Given the description of an element on the screen output the (x, y) to click on. 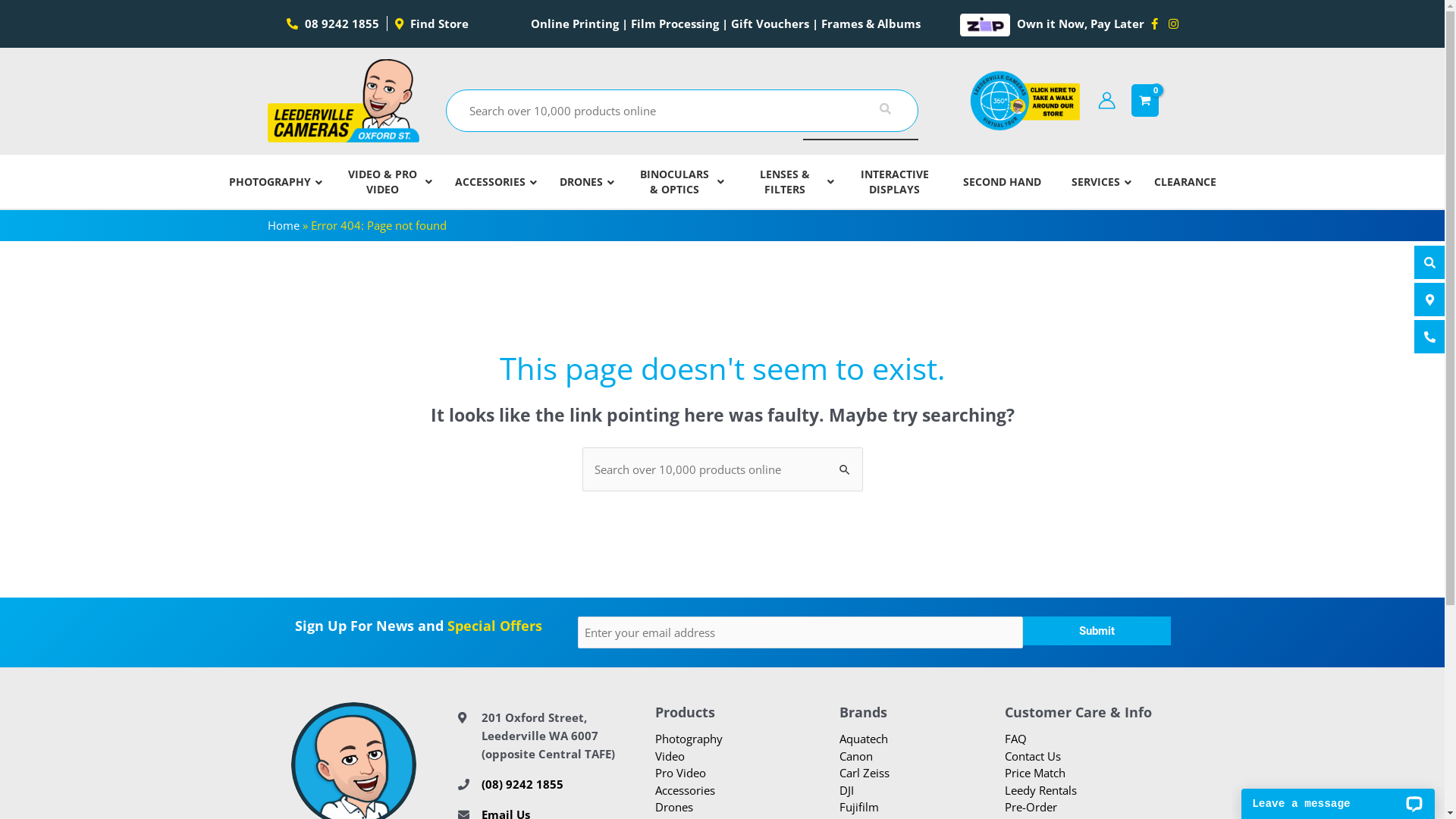
Photography Element type: text (688, 738)
FAQ Element type: text (1015, 738)
LENSES & FILTERS Element type: text (785, 181)
Video Element type: text (669, 755)
VIDEO & PRO VIDEO Element type: text (384, 181)
ACCESSORIES Element type: text (491, 181)
Pre-Order Element type: text (1030, 806)
Pro Video Element type: text (680, 772)
08 9242 1855 Element type: text (336, 23)
CLEARANCE Element type: text (1185, 181)
Find Store Element type: text (430, 23)
SERVICES Element type: text (1096, 181)
Price Match Element type: text (1034, 772)
PHOTOGRAPHY Element type: text (271, 181)
Carl Zeiss Element type: text (863, 772)
Contact Us Element type: text (1032, 755)
Online Printing Element type: text (574, 23)
Frames & Albums Element type: text (869, 23)
Home Element type: text (282, 224)
Leedy Rentals Element type: text (1040, 789)
Gift Vouchers Element type: text (770, 23)
Submit Element type: text (1096, 630)
BINOCULARS & OPTICS Element type: text (676, 181)
Aquatech Element type: text (862, 738)
DRONES Element type: text (582, 181)
Search Element type: text (845, 462)
Film Processing Element type: text (674, 23)
SECOND HAND Element type: text (1001, 181)
INTERACTIVE DISPLAYS Element type: text (894, 181)
(08) 9242 1855 Element type: text (521, 783)
Drones Element type: text (674, 806)
Accessories Element type: text (685, 789)
Fujifilm Element type: text (858, 806)
DJI Element type: text (845, 789)
Canon Element type: text (855, 755)
